Given the description of an element on the screen output the (x, y) to click on. 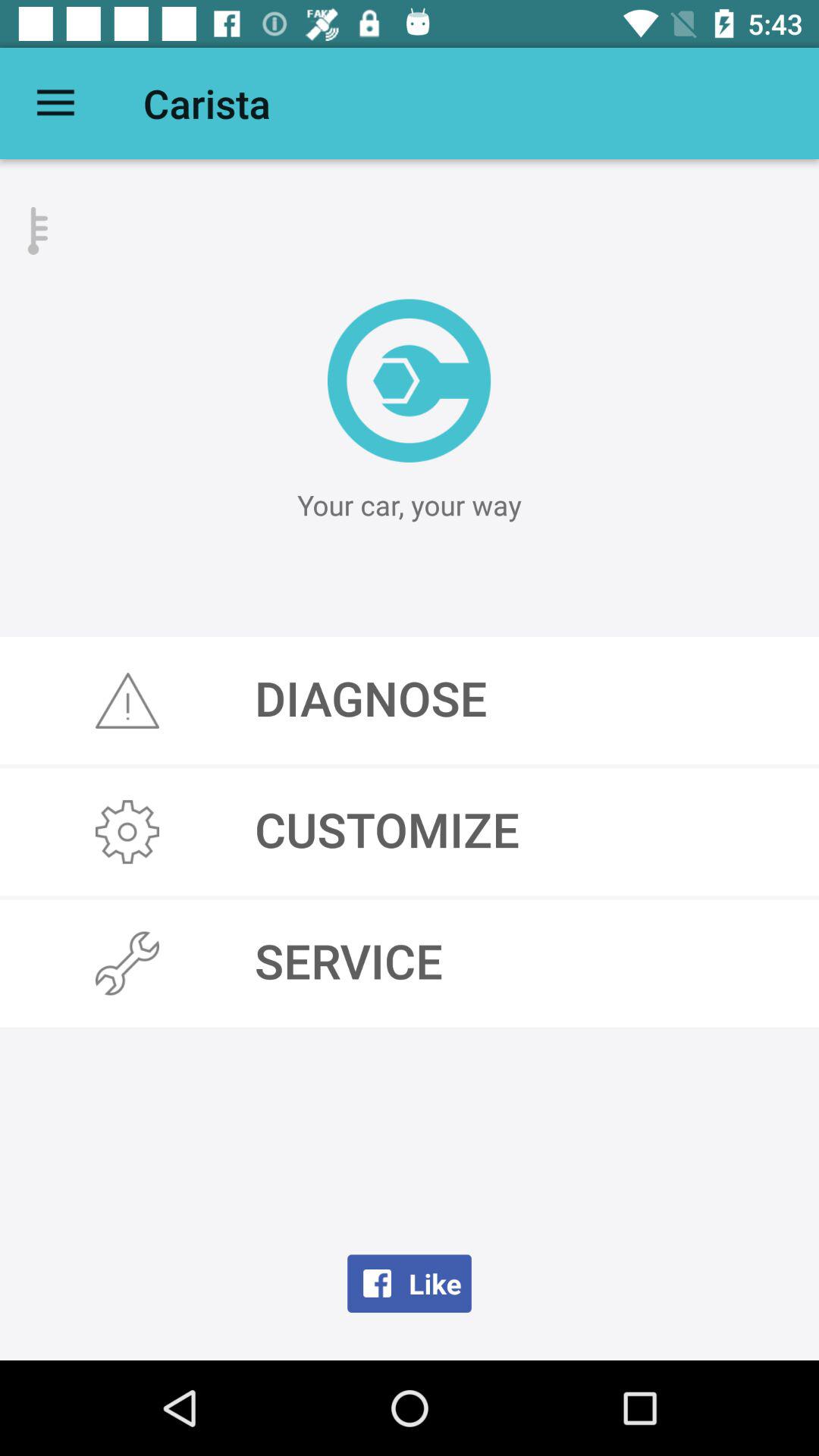
select item above your car your item (408, 380)
